Given the description of an element on the screen output the (x, y) to click on. 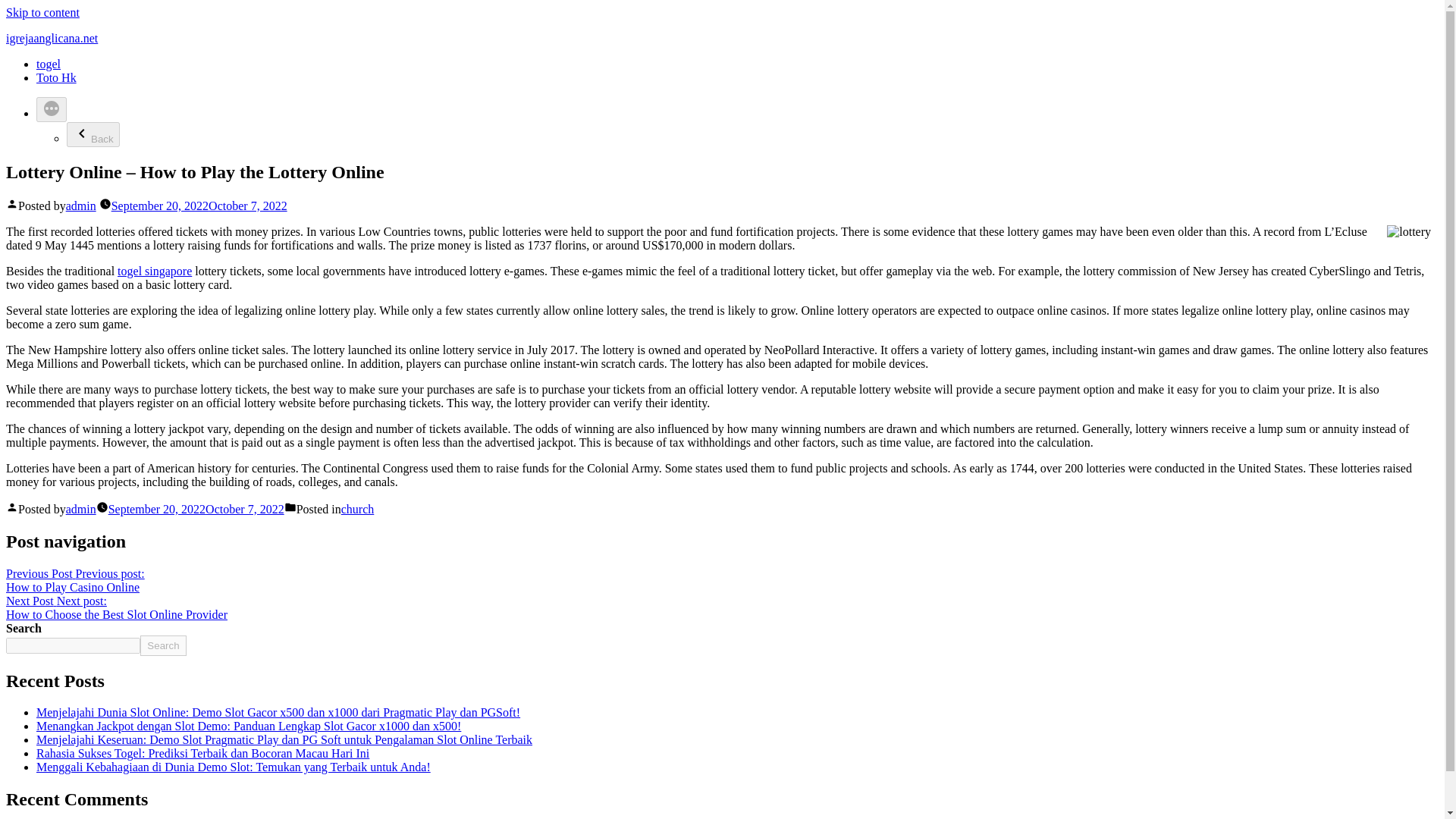
Skip to content (42, 11)
Back (92, 134)
admin (74, 580)
church (80, 508)
togel singapore (357, 508)
September 20, 2022October 7, 2022 (154, 270)
